Given the description of an element on the screen output the (x, y) to click on. 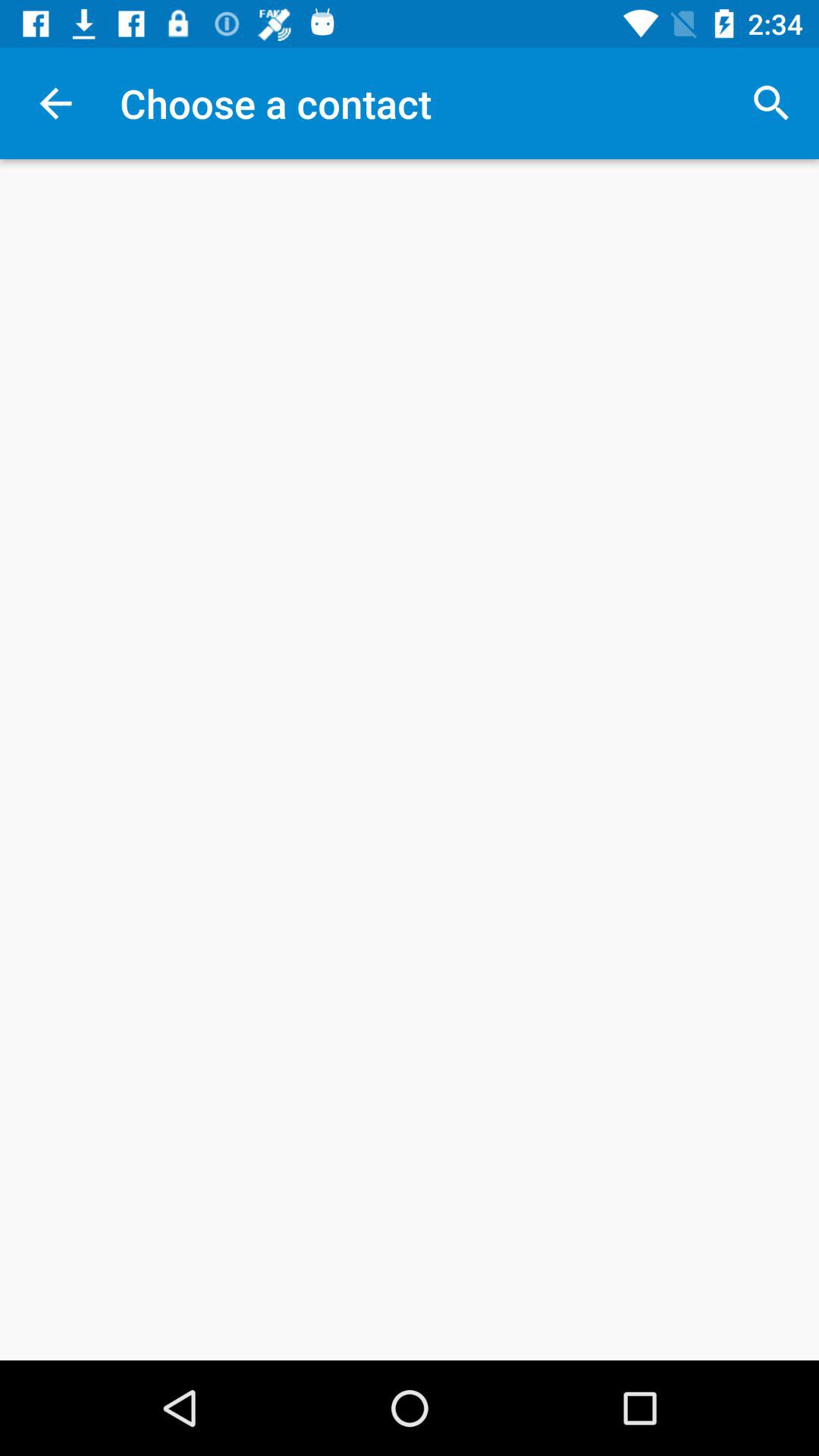
choose app next to the choose a contact icon (771, 103)
